Given the description of an element on the screen output the (x, y) to click on. 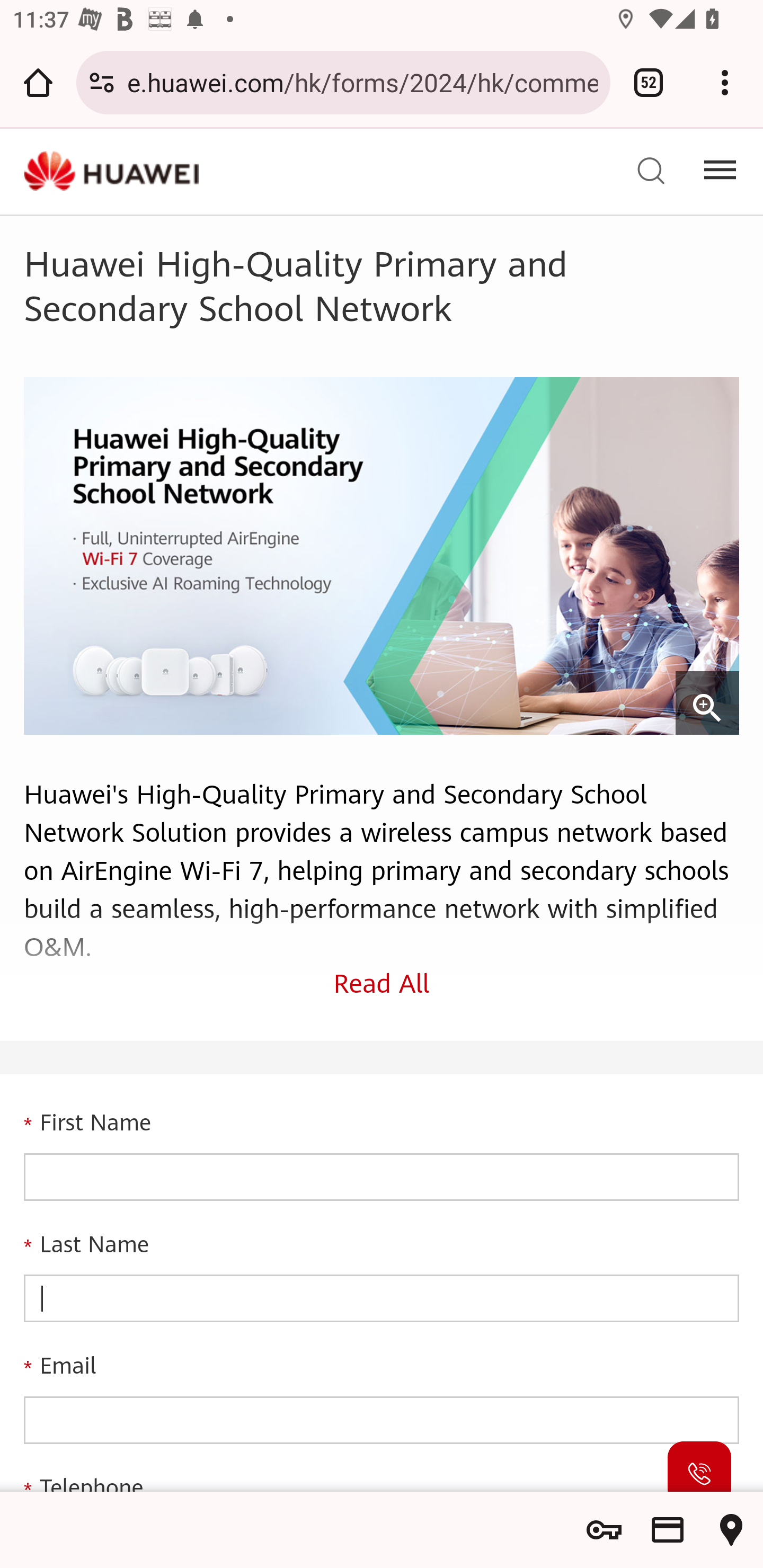
Open the home page (38, 82)
Connection is secure (101, 82)
Switch or close tabs (648, 82)
Customize and control Google Chrome (724, 82)
Show saved passwords and password options (603, 1530)
Show saved payment methods (667, 1530)
Show saved addresses (731, 1530)
